Given the description of an element on the screen output the (x, y) to click on. 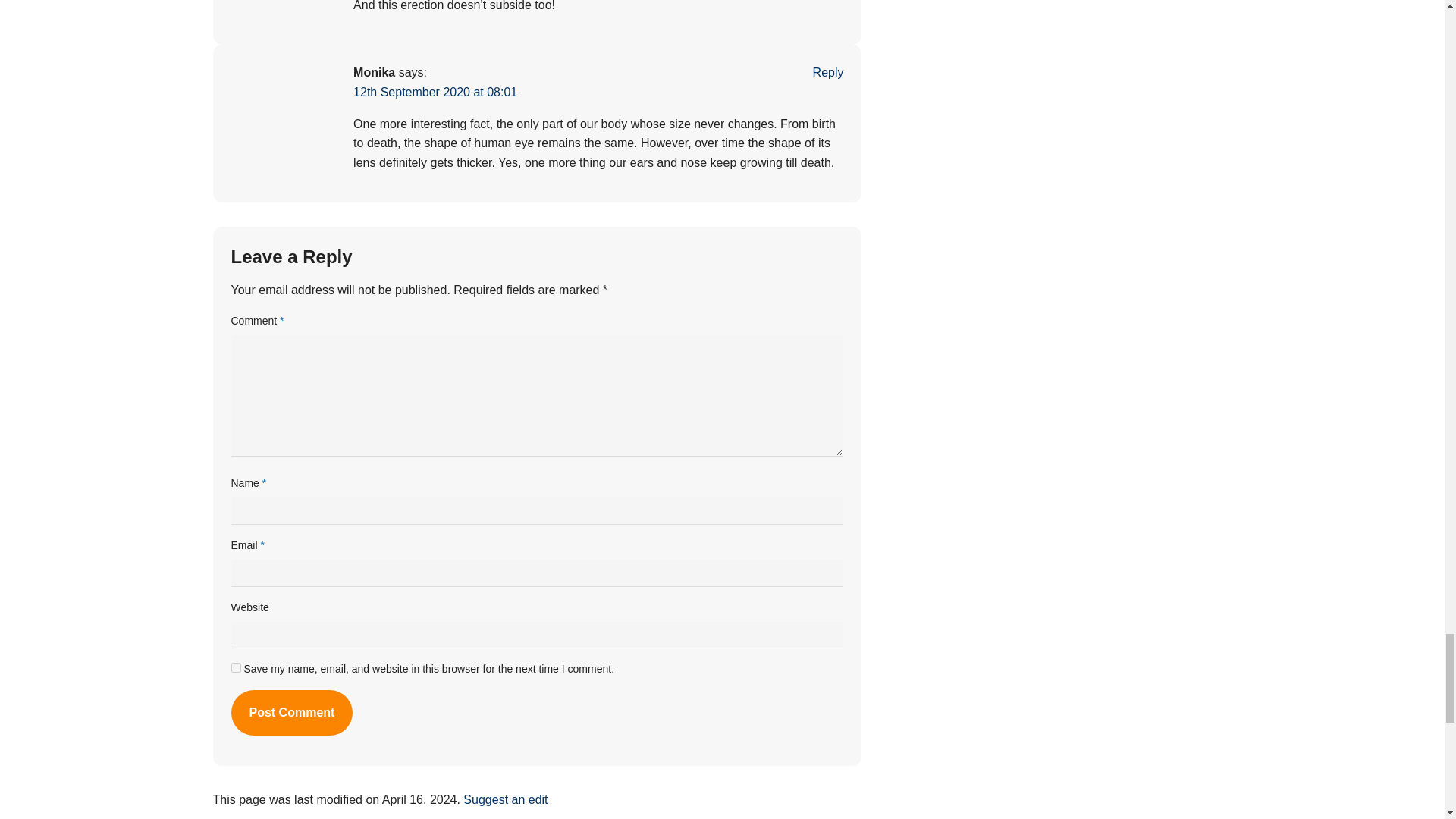
Reply (828, 72)
Post Comment (291, 712)
yes (235, 667)
Post Comment (291, 712)
Suggest an edit (505, 799)
12th September 2020 at 08:01 (434, 91)
